Given the description of an element on the screen output the (x, y) to click on. 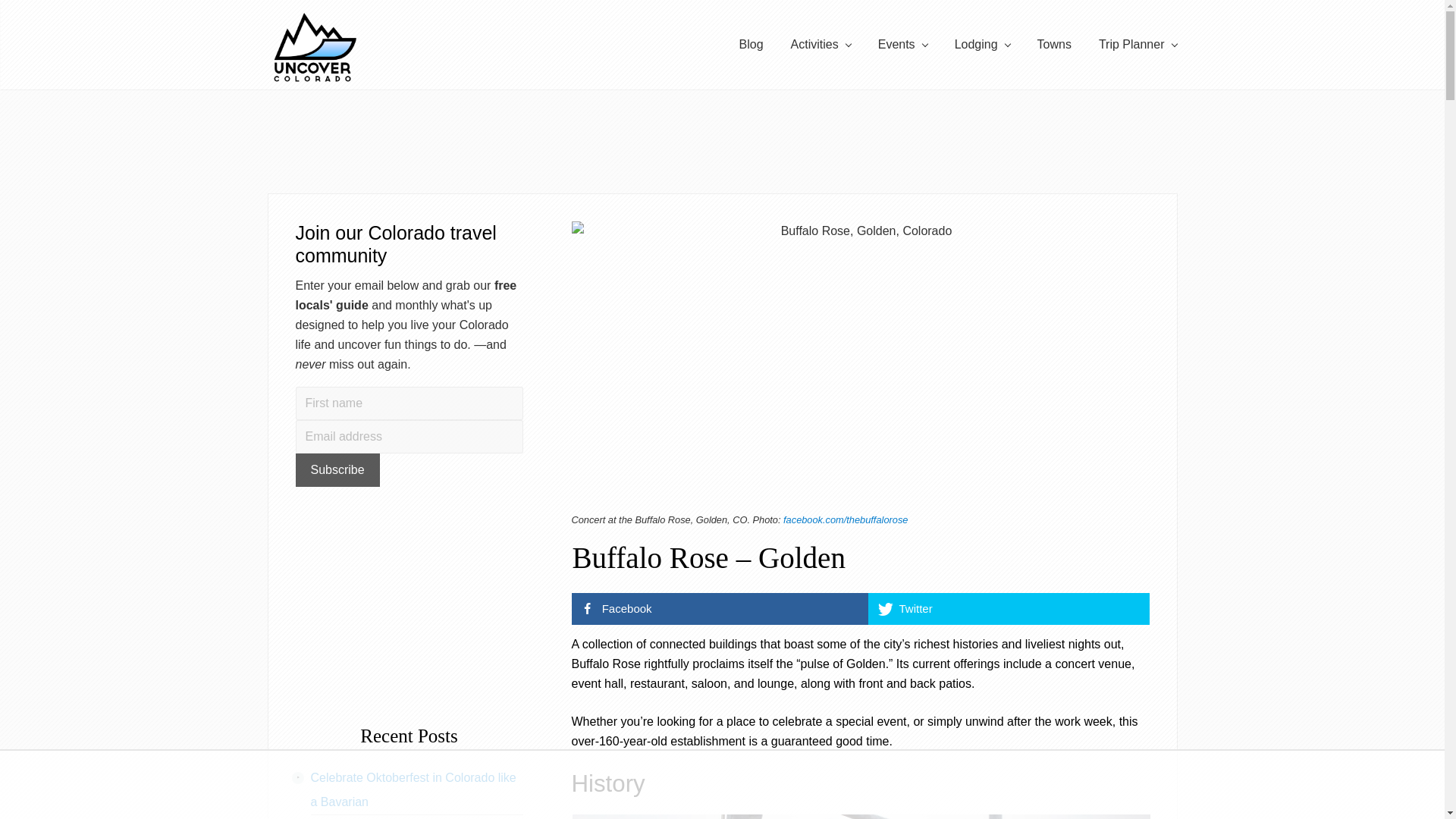
Blog (751, 44)
Subscribe (337, 469)
Activities (820, 44)
Colorado Travel Blog (751, 44)
Colorado Trip Ideas (1137, 44)
